Given the description of an element on the screen output the (x, y) to click on. 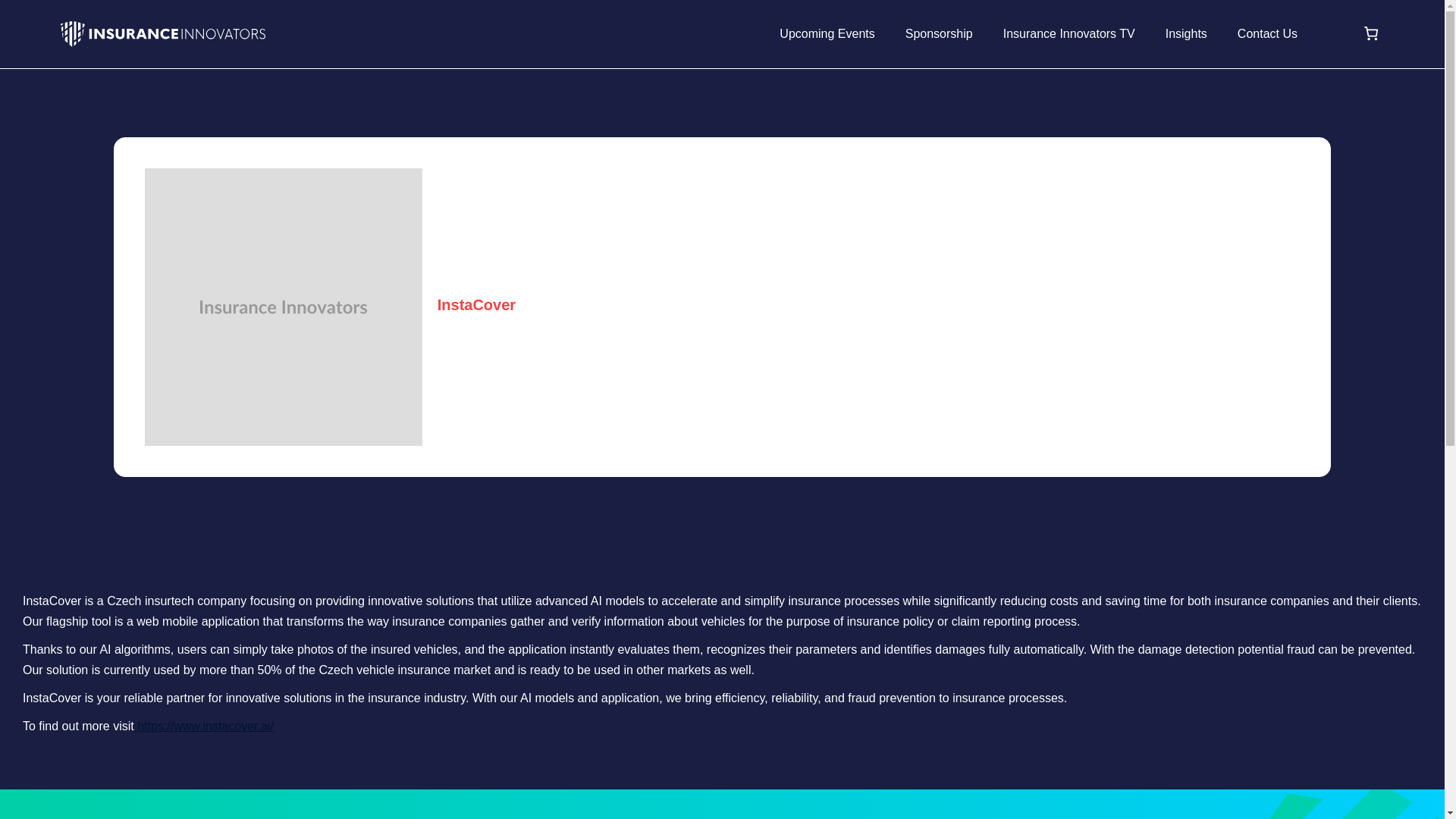
Insurance Innovators TV (1069, 33)
Sponsorship (938, 33)
Insights (1186, 33)
Contact Us (1266, 33)
Upcoming Events (826, 33)
